Given the description of an element on the screen output the (x, y) to click on. 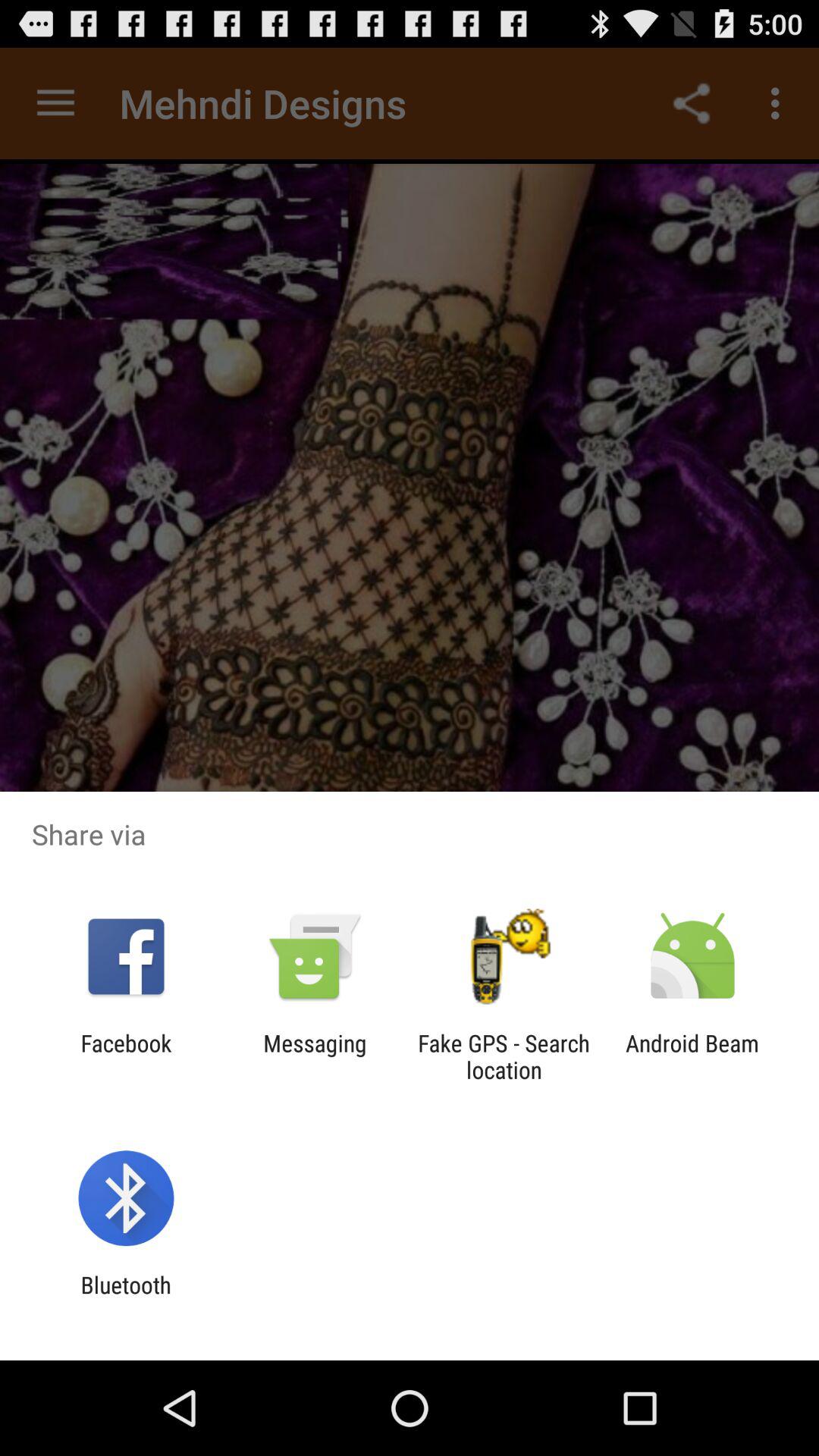
select the item next to the facebook item (314, 1056)
